Given the description of an element on the screen output the (x, y) to click on. 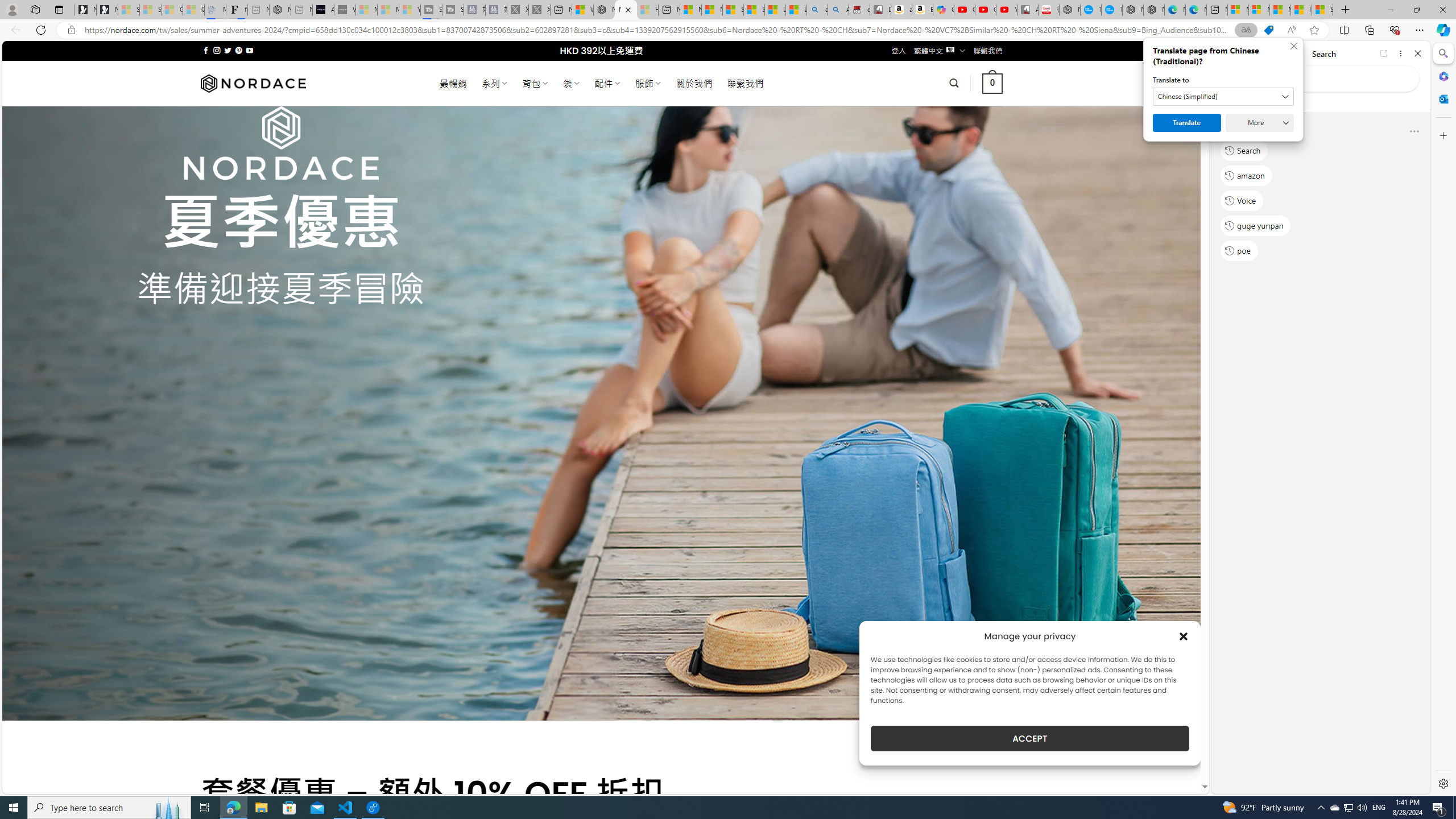
Translate (1187, 122)
Web scope (1230, 102)
Gloom - YouTube (985, 9)
ACCEPT (1029, 738)
